Given the description of an element on the screen output the (x, y) to click on. 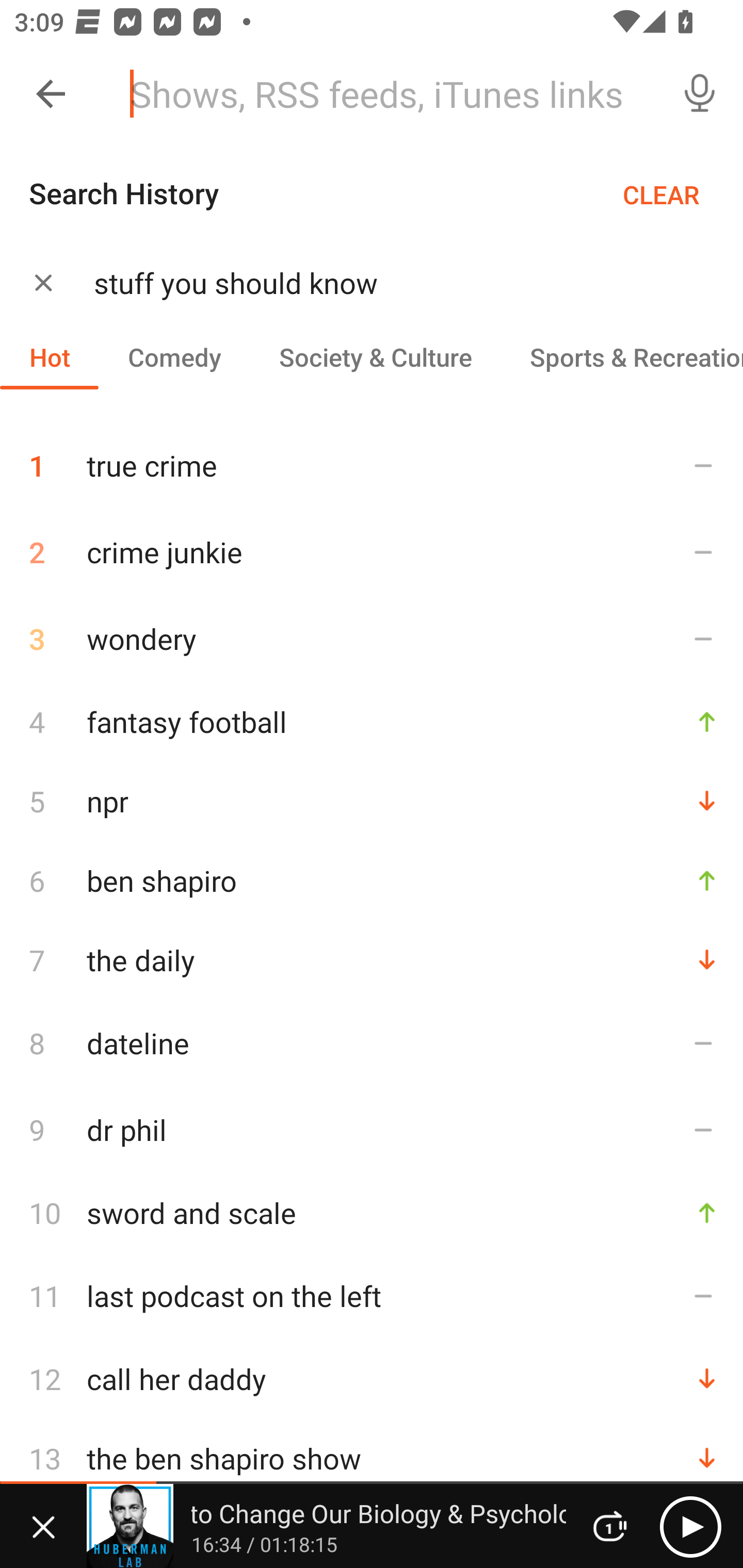
Collapse (50, 93)
Voice Search (699, 93)
Shows, RSS feeds, iTunes links (385, 94)
CLEAR (660, 194)
stuff you should know (393, 282)
 Clear (43, 282)
Hot (49, 356)
Comedy (173, 356)
Society & Culture (374, 356)
Sports & Recreation (621, 356)
1 true crime (371, 457)
2 crime junkie (371, 551)
3 wondery (371, 638)
4 fantasy football (371, 722)
5 npr (371, 801)
6 ben shapiro (371, 880)
7 the daily (371, 960)
8 dateline (371, 1043)
9 dr phil (371, 1129)
10 sword and scale (371, 1212)
11 last podcast on the left (371, 1295)
12 call her daddy (371, 1379)
13 the ben shapiro show (371, 1458)
Play (690, 1526)
